Given the description of an element on the screen output the (x, y) to click on. 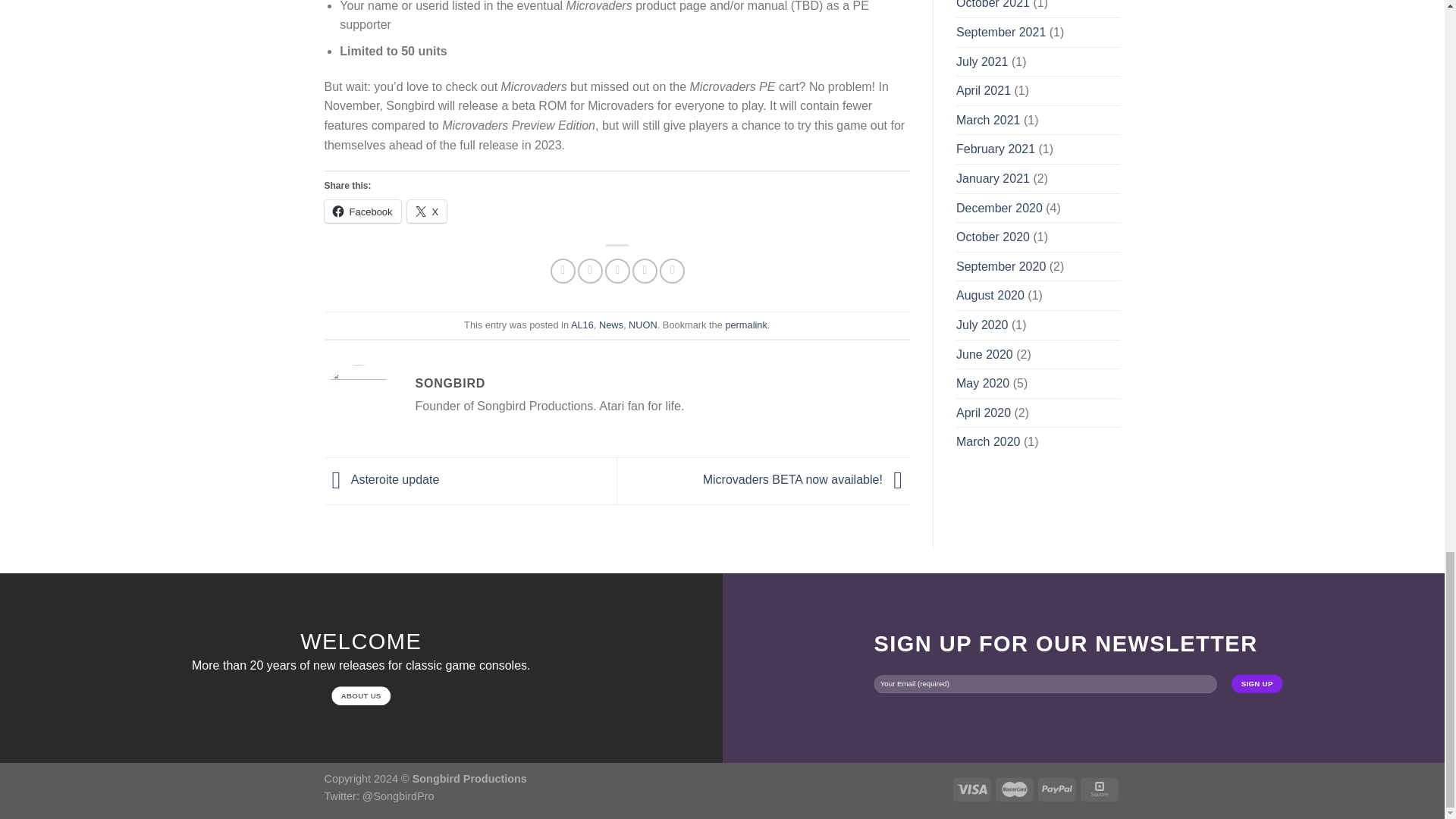
Facebook (362, 210)
Sign Up (1256, 683)
Click to share on Facebook (362, 210)
Share on Facebook (562, 270)
Share on Twitter (590, 270)
X (426, 210)
Click to share on X (426, 210)
